Given the description of an element on the screen output the (x, y) to click on. 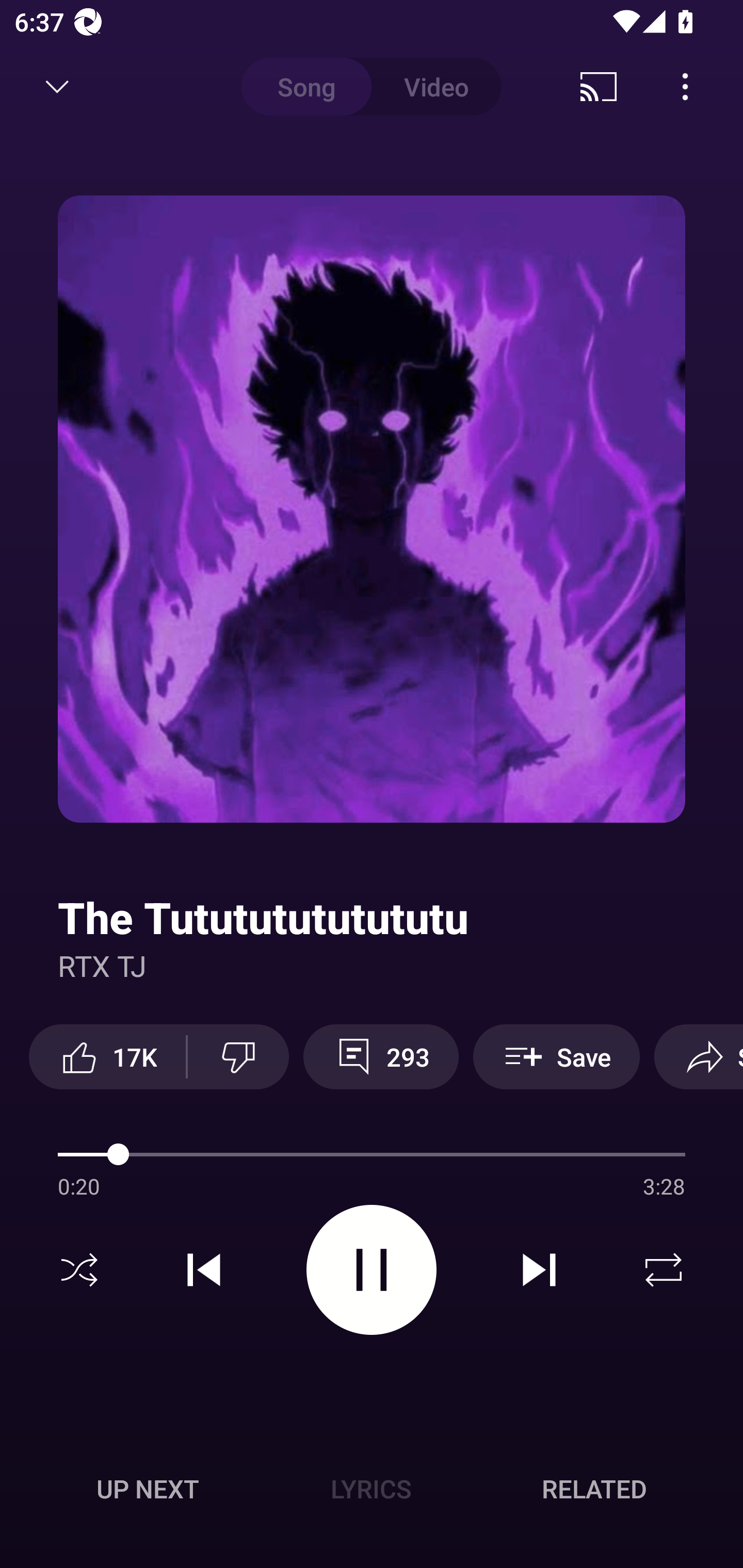
Minimize (57, 86)
Cast. Disconnected (598, 86)
Menu (684, 86)
17K like this video along with 17,364 other people (106, 1056)
Dislike (238, 1056)
293 View 293 comments (380, 1056)
Save Save to playlist (556, 1056)
Share (698, 1056)
Pause video (371, 1269)
Shuffle off (79, 1269)
Previous track (203, 1269)
Next track (538, 1269)
Repeat off (663, 1269)
Up next UP NEXT Lyrics LYRICS Related RELATED (371, 1491)
Lyrics LYRICS (370, 1488)
Related RELATED (594, 1488)
